Given the description of an element on the screen output the (x, y) to click on. 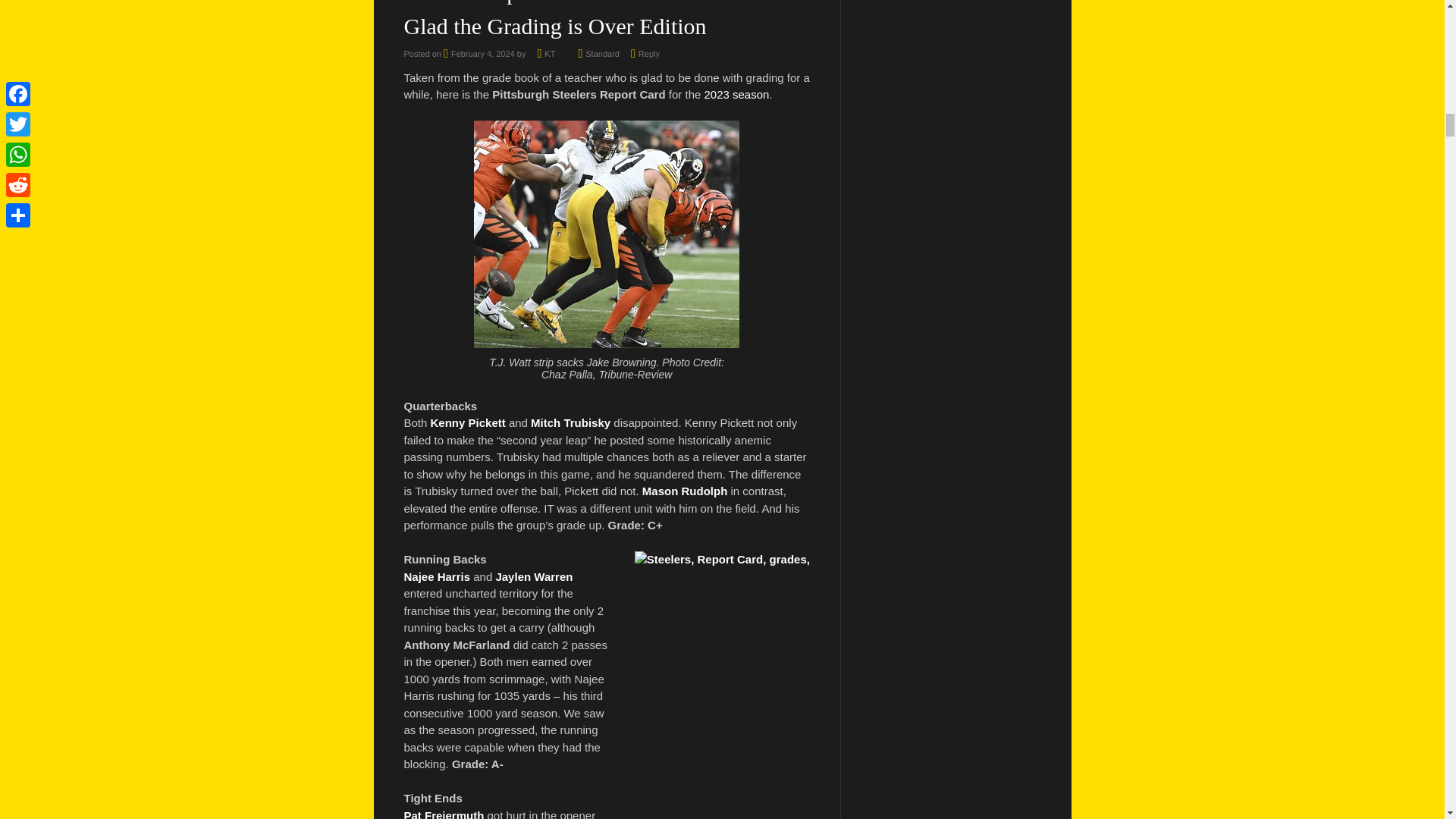
12:37 PM (479, 53)
Permalink to  (602, 53)
View all posts by KT (549, 53)
